Given the description of an element on the screen output the (x, y) to click on. 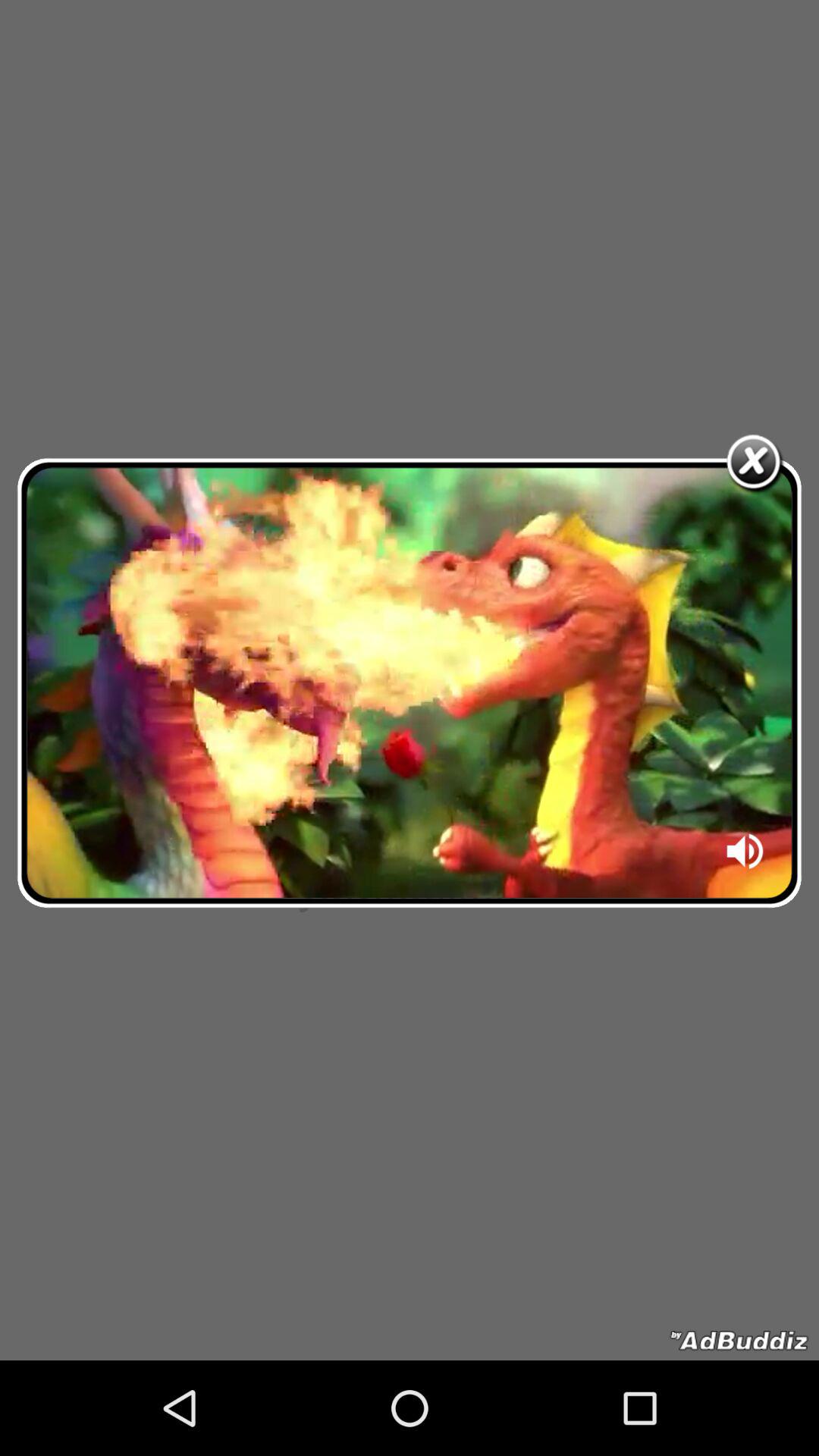
speaker button (745, 856)
